Given the description of an element on the screen output the (x, y) to click on. 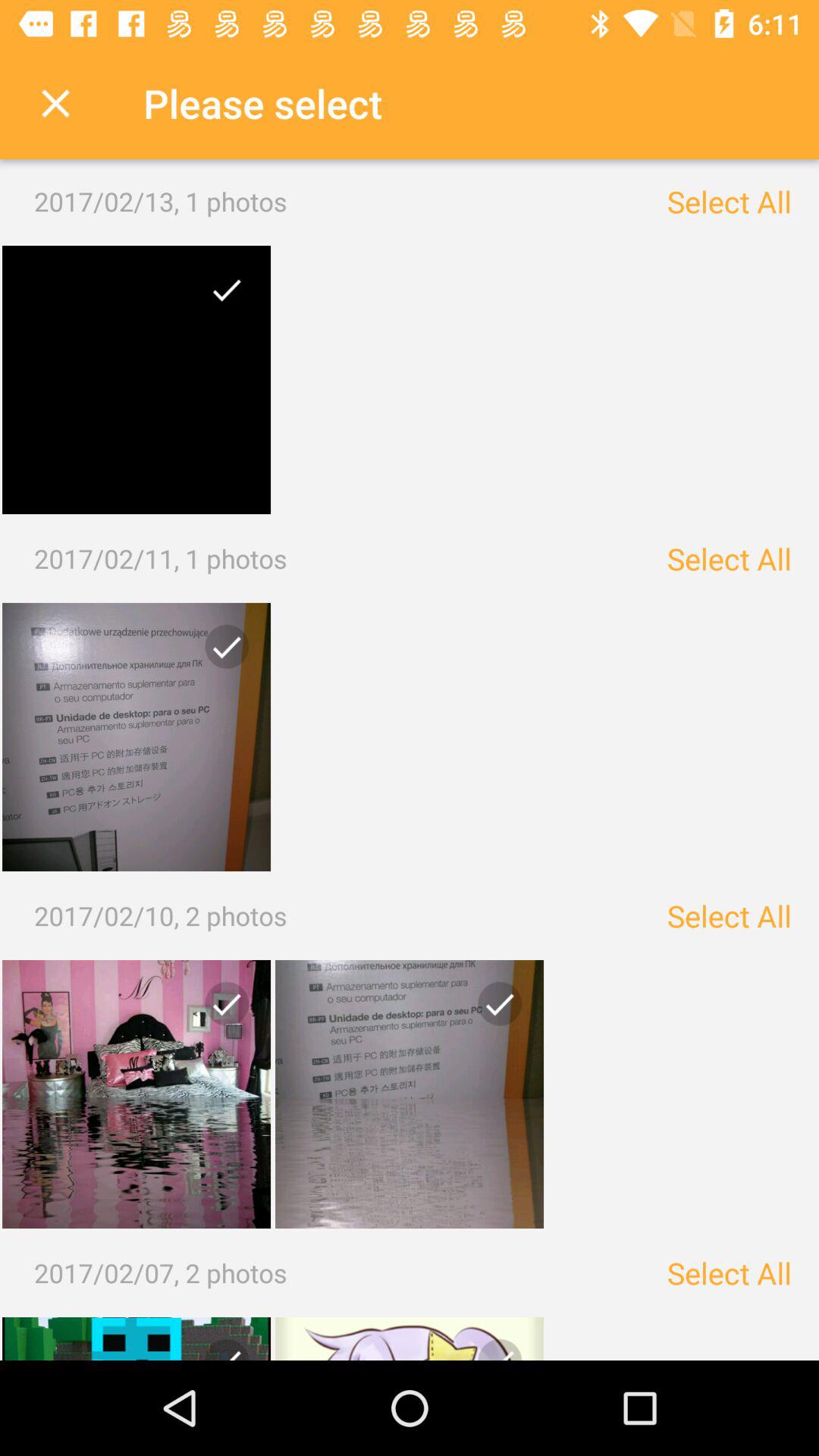
selected picture (136, 379)
